Given the description of an element on the screen output the (x, y) to click on. 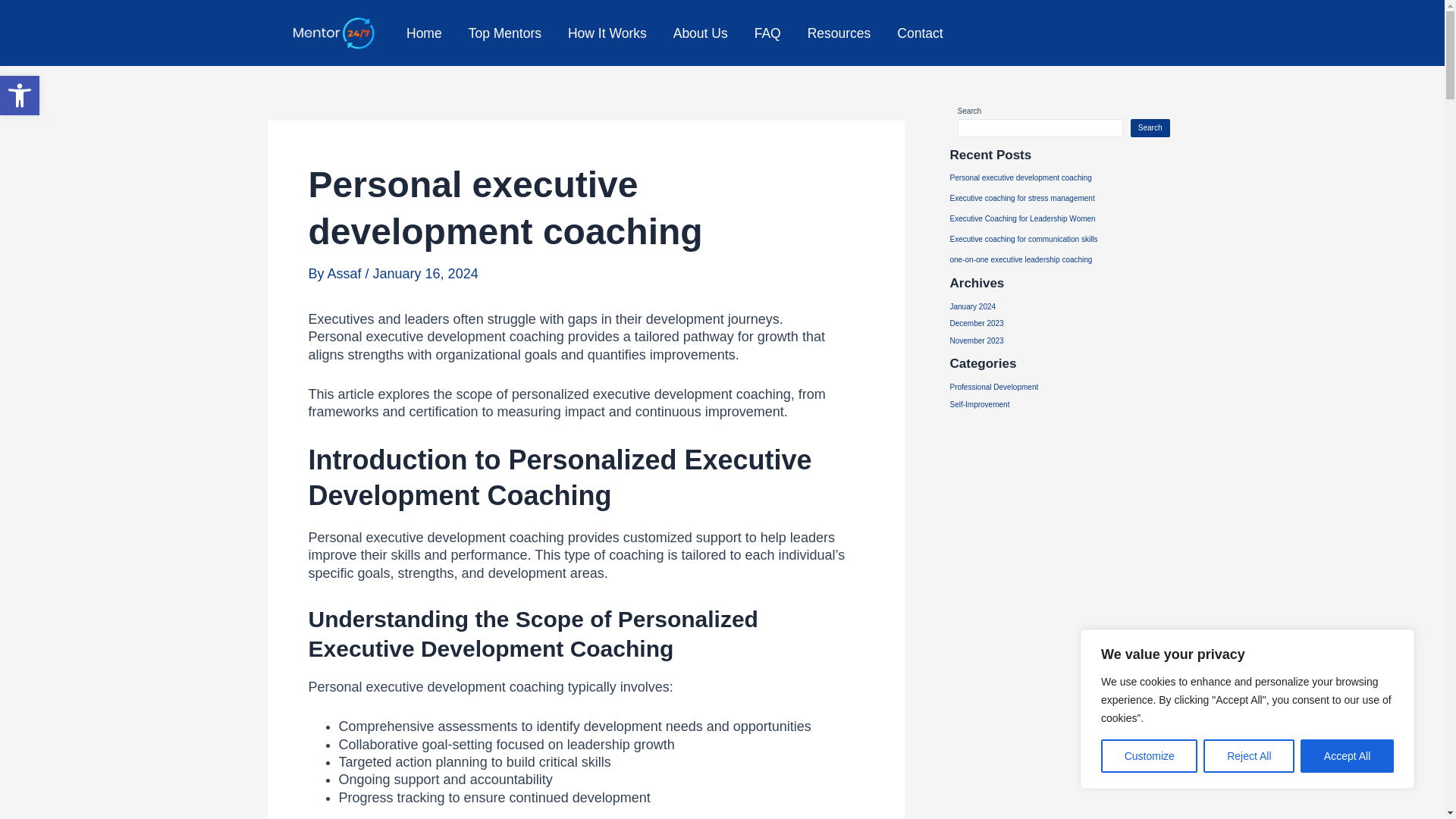
About Us (700, 33)
Customize (1148, 756)
Accessibility Tools (19, 95)
Resources (838, 33)
Open toolbar (19, 95)
FAQ (767, 33)
View all posts by Assaf (346, 273)
How It Works (606, 33)
Home (423, 33)
Accept All (1346, 756)
Reject All (1249, 756)
Contact (919, 33)
Top Mentors (504, 33)
